Given the description of an element on the screen output the (x, y) to click on. 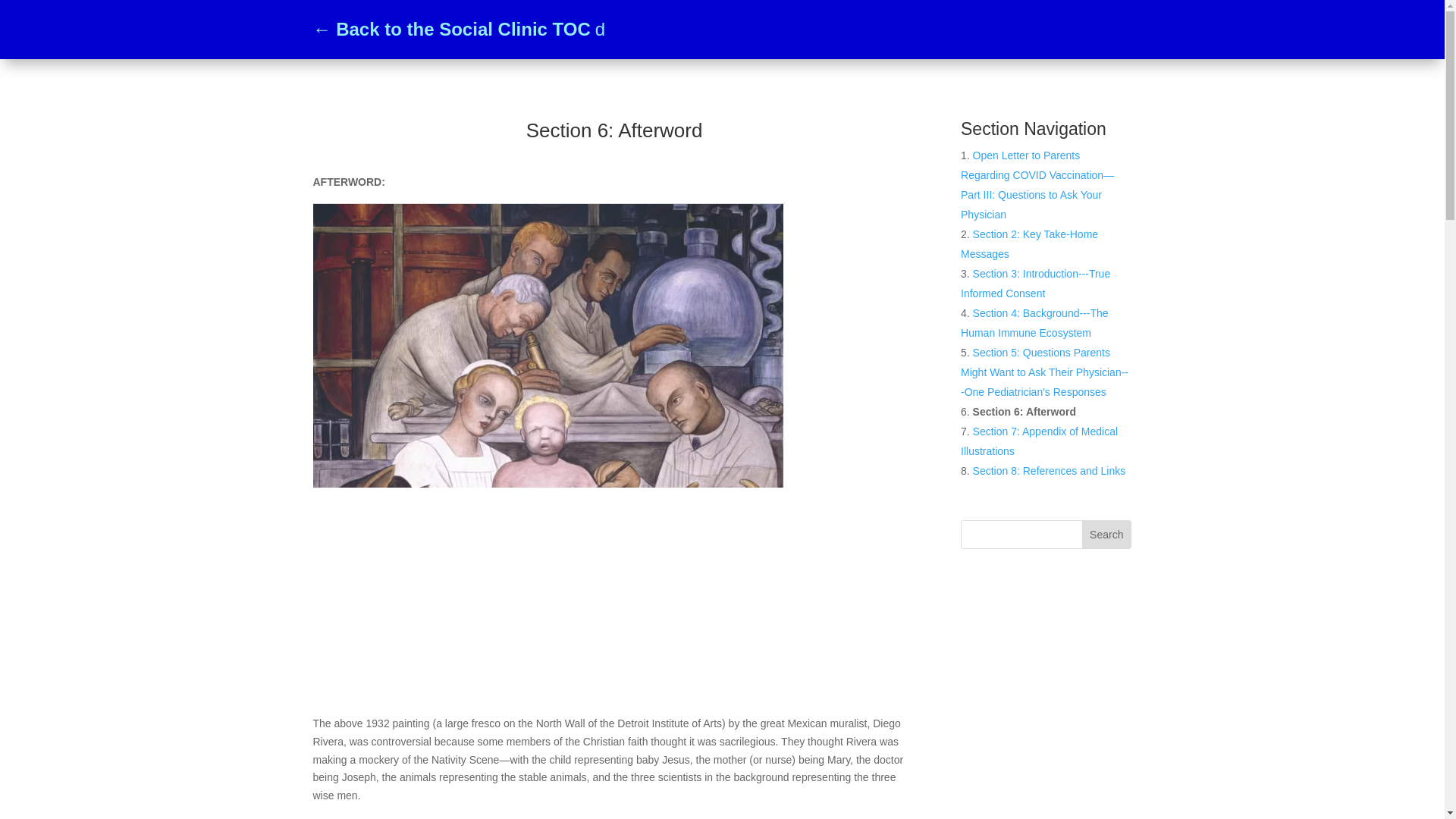
Search (1106, 533)
Section 8: References and Links (1048, 470)
Section 2: Key Take-Home Messages  (1028, 244)
Section 3: Introduction---True Informed Consent (1034, 283)
Search (1106, 533)
Section 4: Background---The Human Immune Ecosystem (1034, 323)
Search (1106, 533)
Section 7: Appendix of Medical Illustrations (1039, 441)
